Given the description of an element on the screen output the (x, y) to click on. 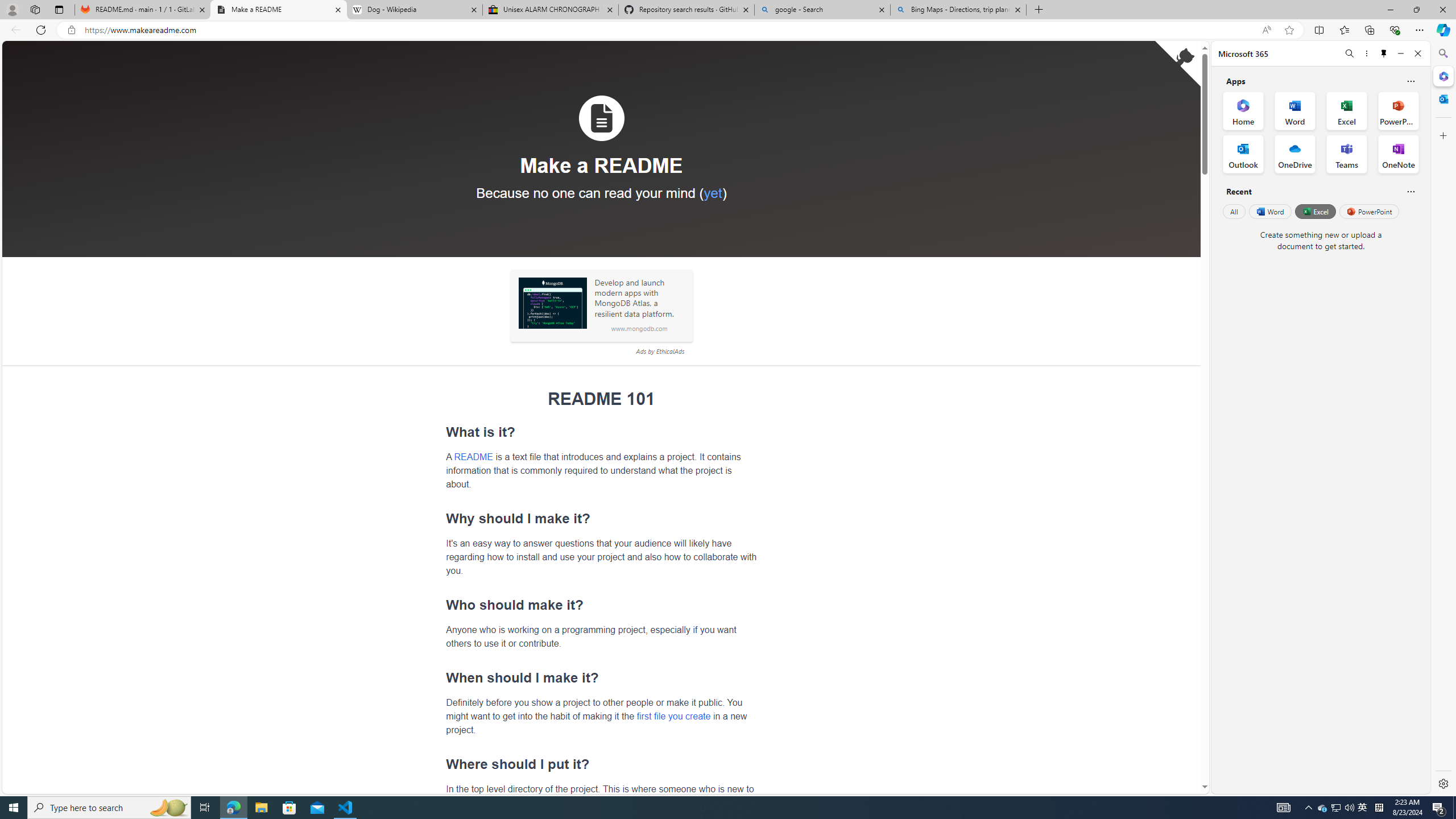
Anchor (440, 764)
Teams Office App (1346, 154)
Unpin side pane (1383, 53)
